Given the description of an element on the screen output the (x, y) to click on. 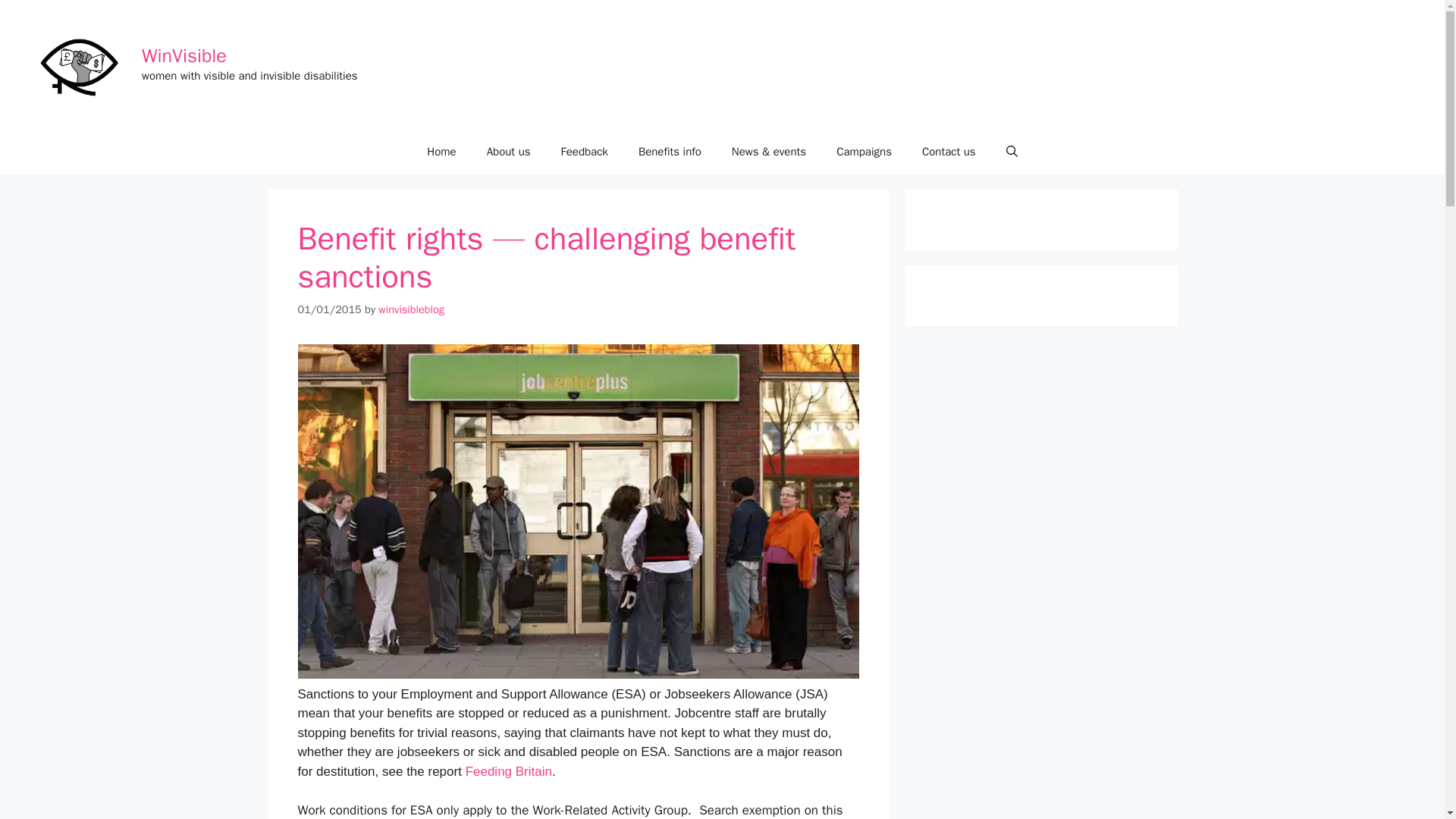
View all posts by winvisibleblog (411, 309)
About us (508, 151)
Feeding Britain (508, 771)
Contact us (949, 151)
WinVisible (184, 55)
Feedback (584, 151)
Campaigns (864, 151)
Benefits info (669, 151)
Home (441, 151)
winvisibleblog (411, 309)
